Given the description of an element on the screen output the (x, y) to click on. 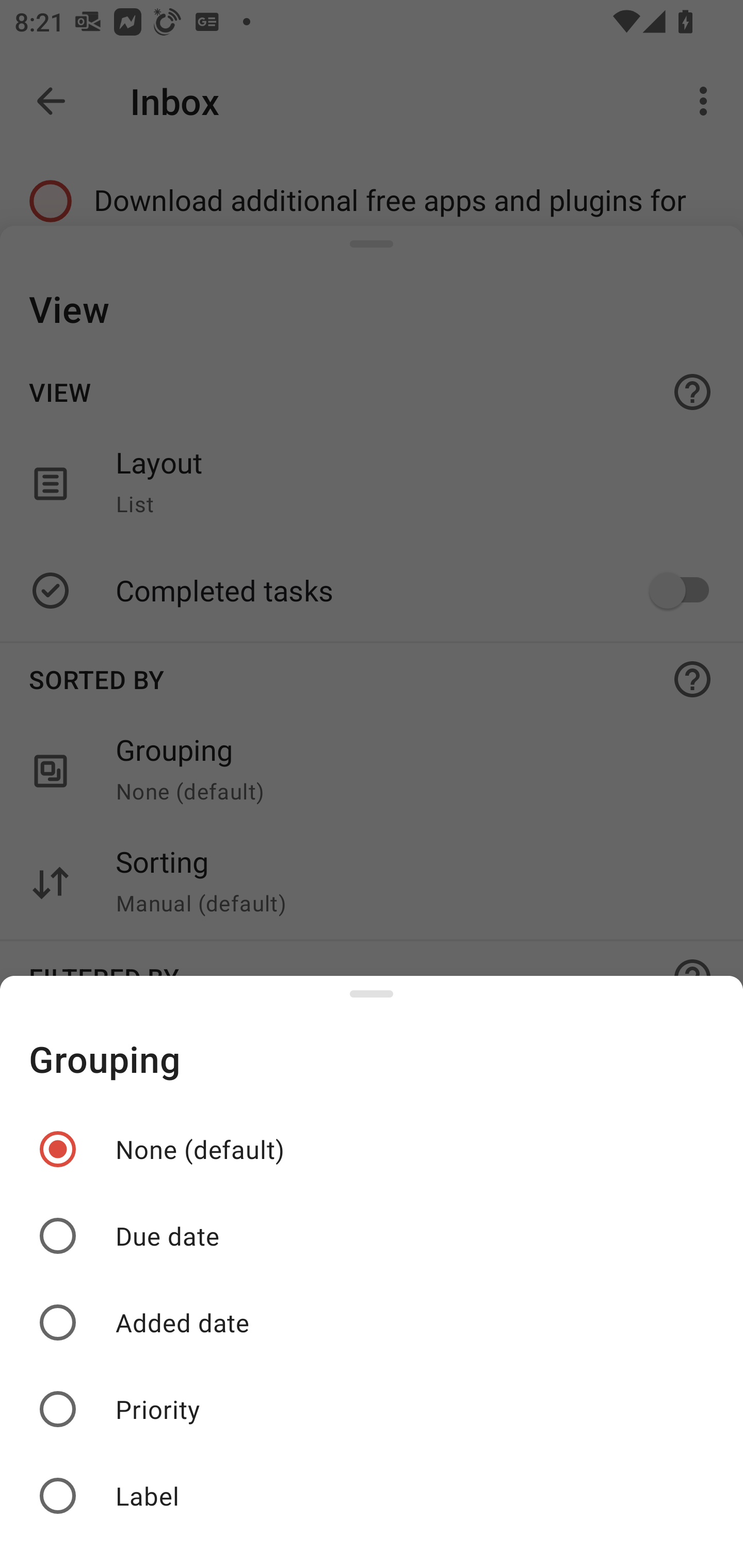
None (default) (371, 1149)
Due date (371, 1236)
Added date (371, 1322)
Priority (371, 1408)
Label (371, 1495)
